Given the description of an element on the screen output the (x, y) to click on. 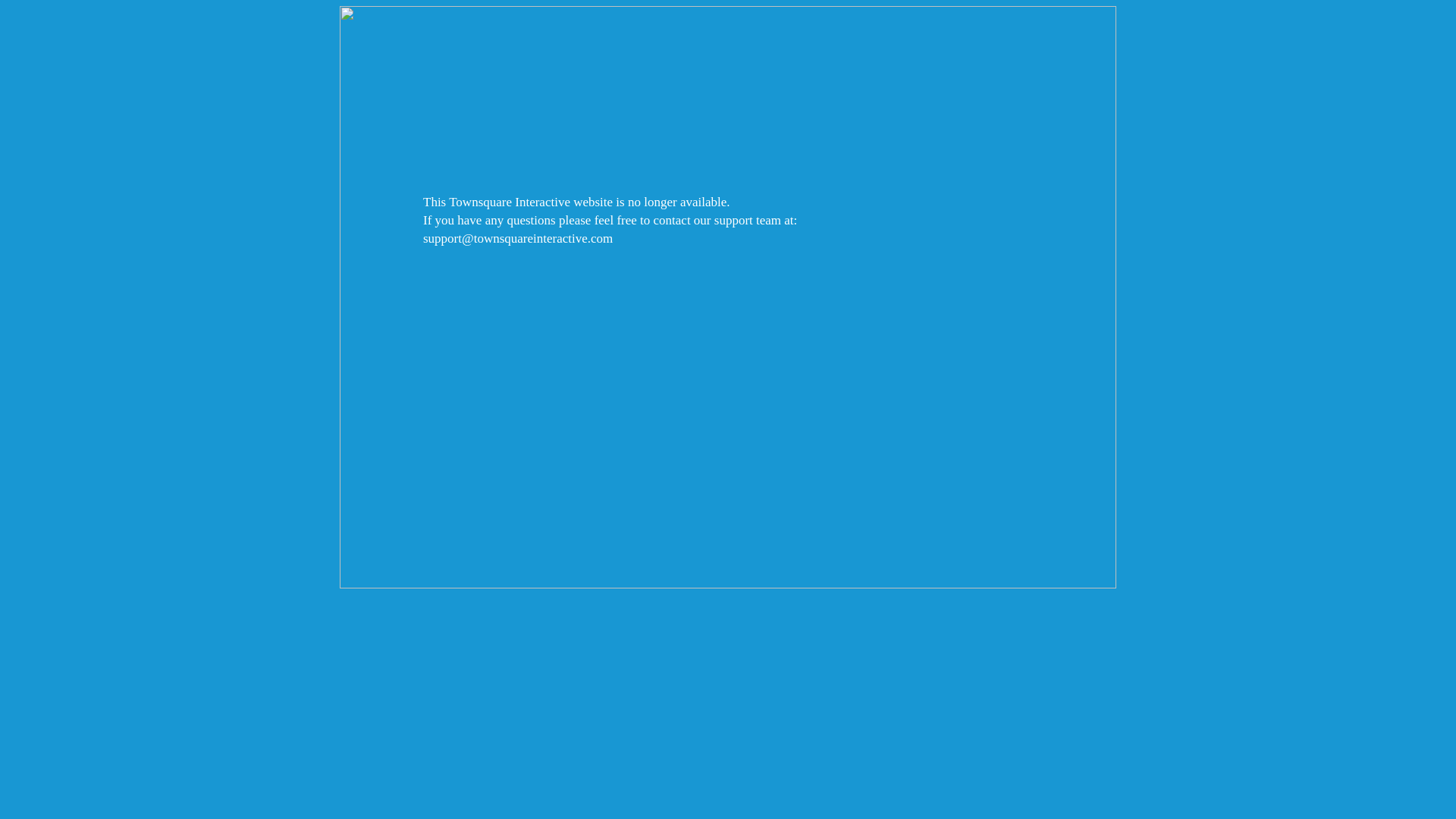
Townsquare Interactive Element type: hover (727, 297)
